Given the description of an element on the screen output the (x, y) to click on. 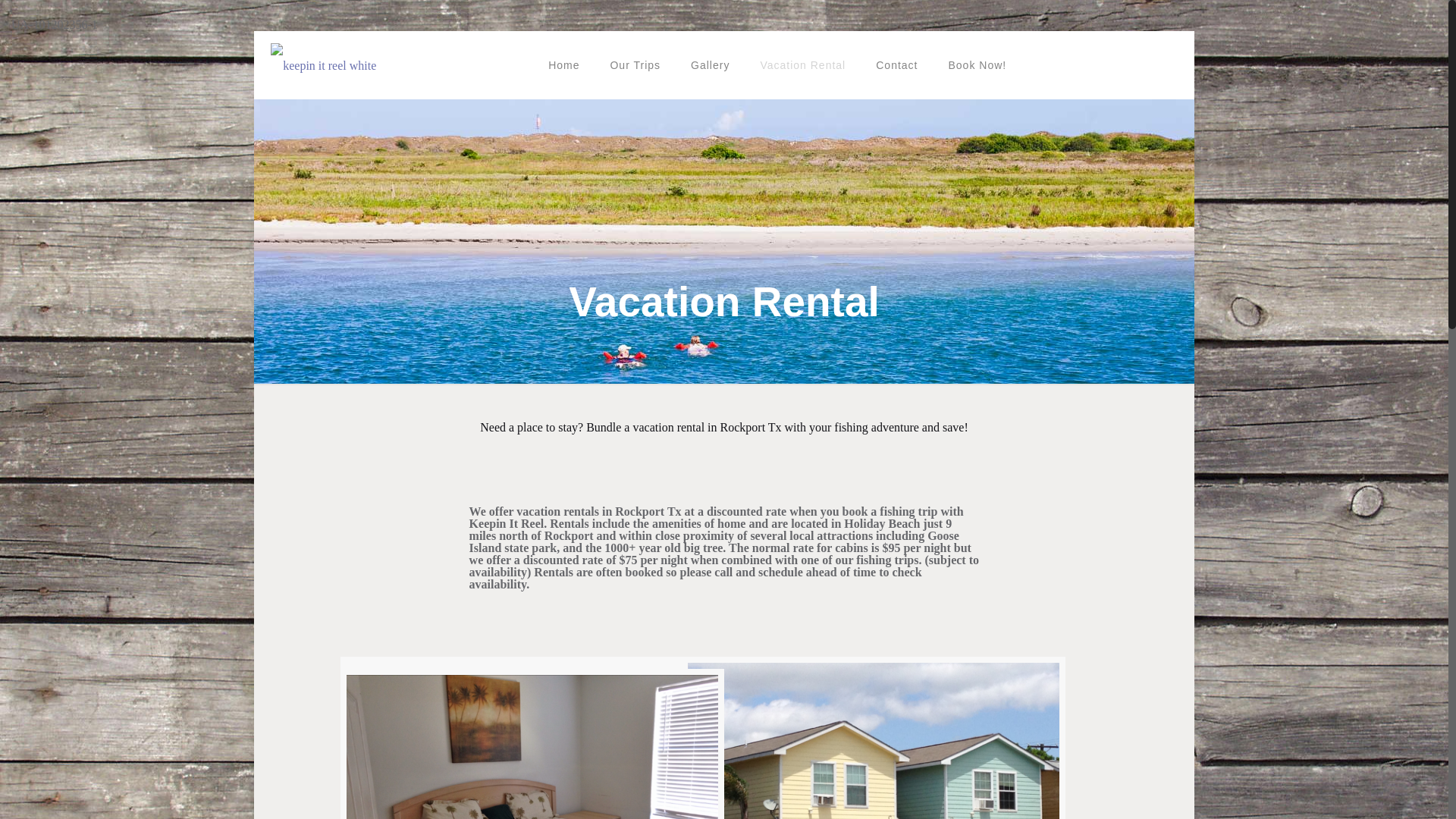
Contact (896, 65)
Vacation Rental (802, 65)
Keepin' It Reel (322, 65)
Our Trips (634, 65)
Book Now! (977, 65)
Home (563, 65)
Gallery (709, 65)
